Given the description of an element on the screen output the (x, y) to click on. 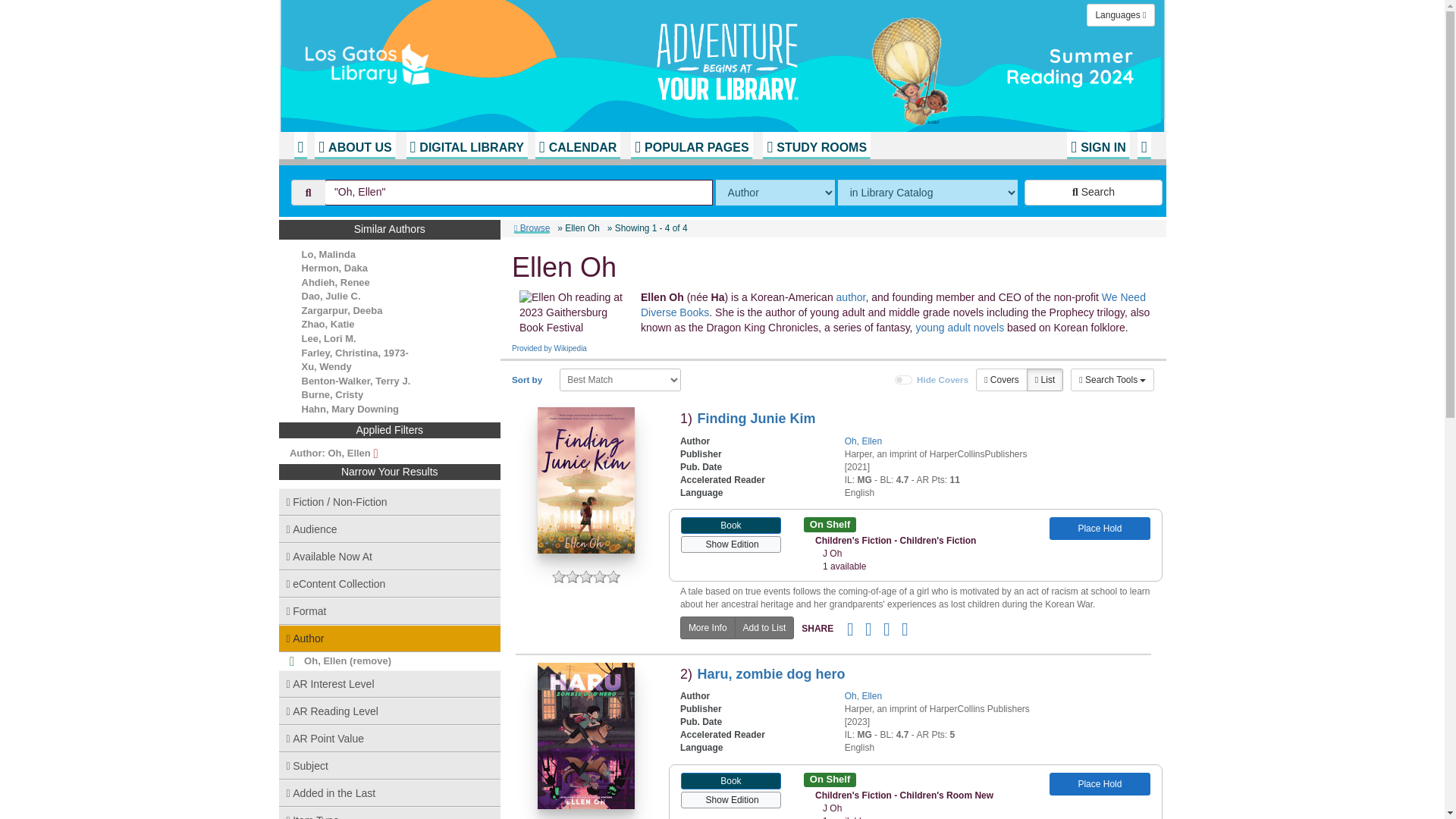
POPULAR PAGES (691, 144)
"Oh, Ellen" (518, 192)
 Search (1093, 192)
CALENDAR (578, 144)
SIGN IN (1098, 144)
Languages  (1120, 15)
ABOUT US (354, 144)
Library Home Page (483, 60)
DIGITAL LIBRARY (466, 144)
STUDY ROOMS (816, 144)
Lo, Malinda (328, 254)
Hermon, Daka (334, 267)
on (903, 379)
